Given the description of an element on the screen output the (x, y) to click on. 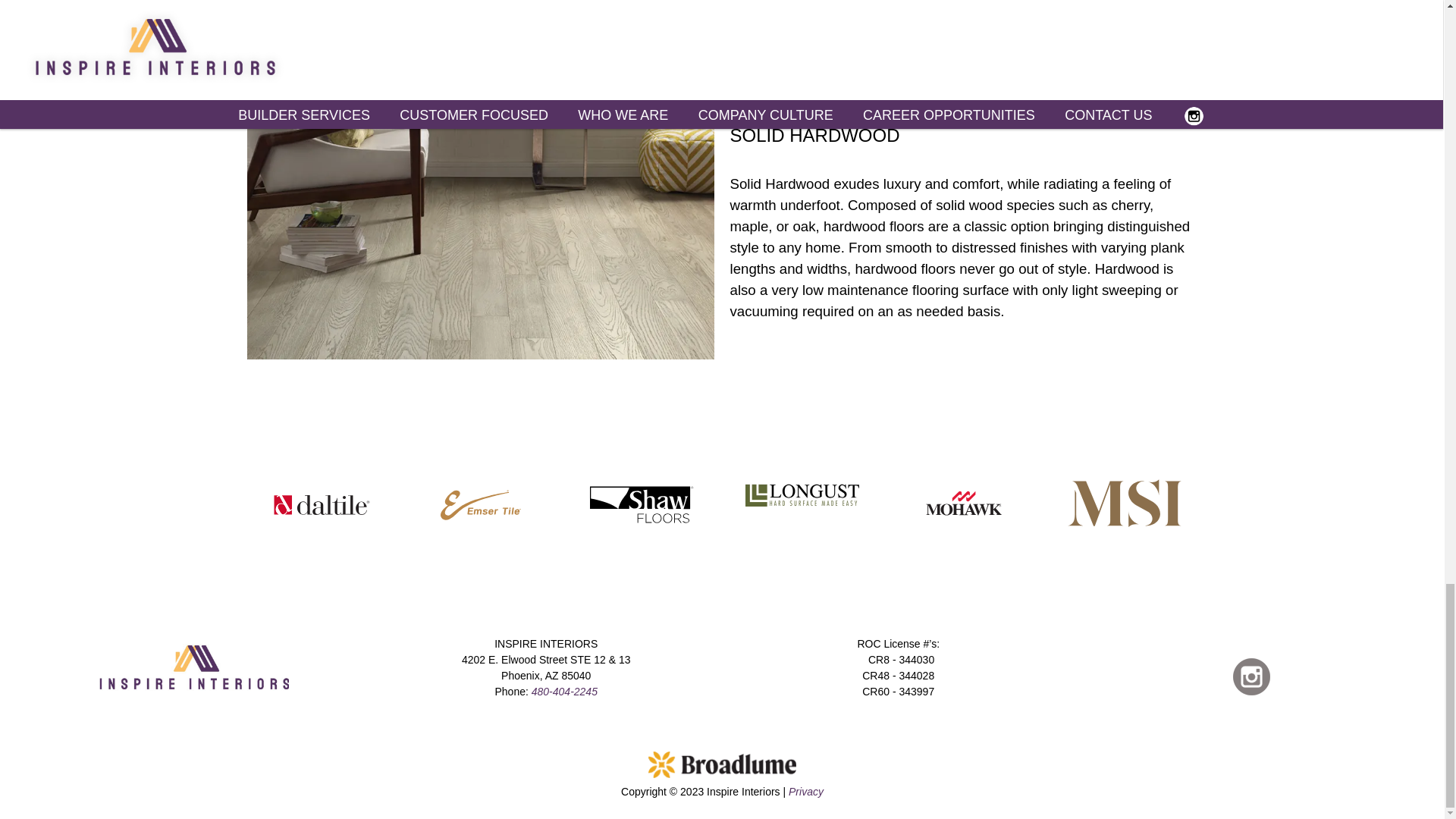
Privacy Policy (806, 791)
